Given the description of an element on the screen output the (x, y) to click on. 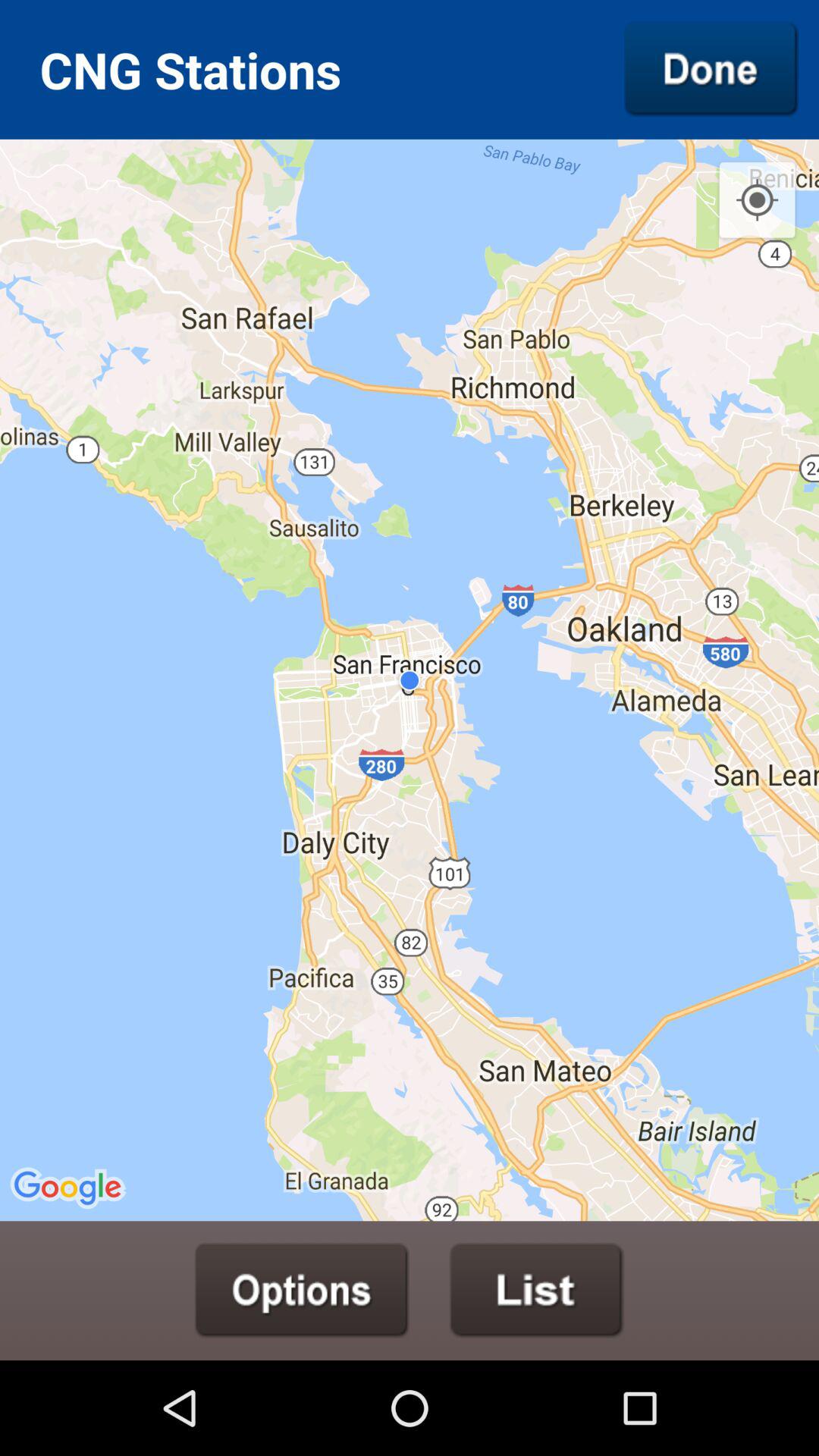
go to the list (536, 1290)
